Given the description of an element on the screen output the (x, y) to click on. 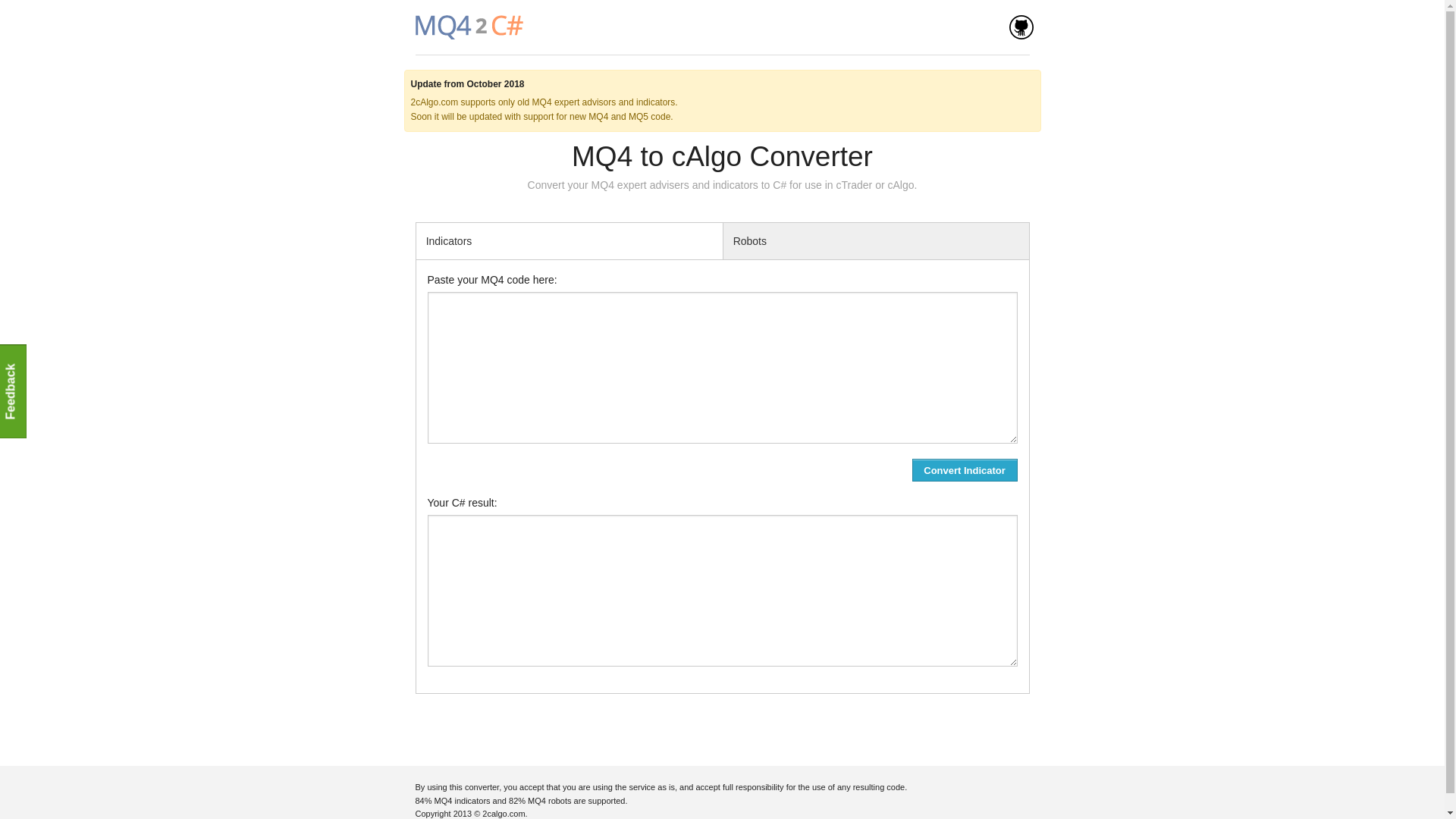
Indicators Element type: text (568, 241)
2calgo on GitHub Element type: hover (1020, 27)
MQ42C# Element type: hover (469, 27)
Robots Element type: text (876, 241)
Convert Indicator Element type: text (964, 469)
